Given the description of an element on the screen output the (x, y) to click on. 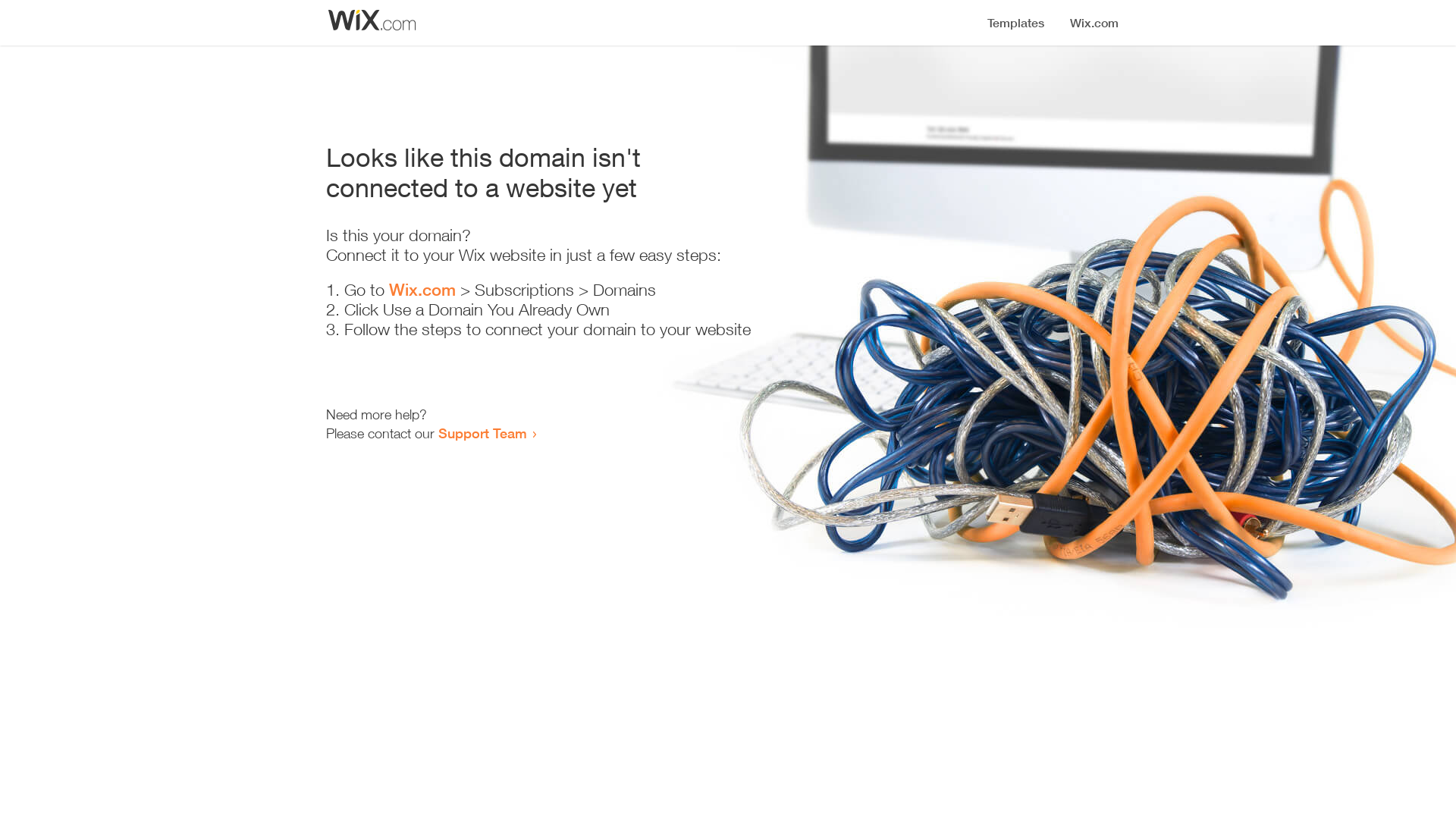
Wix.com Element type: text (422, 289)
Support Team Element type: text (482, 432)
